Given the description of an element on the screen output the (x, y) to click on. 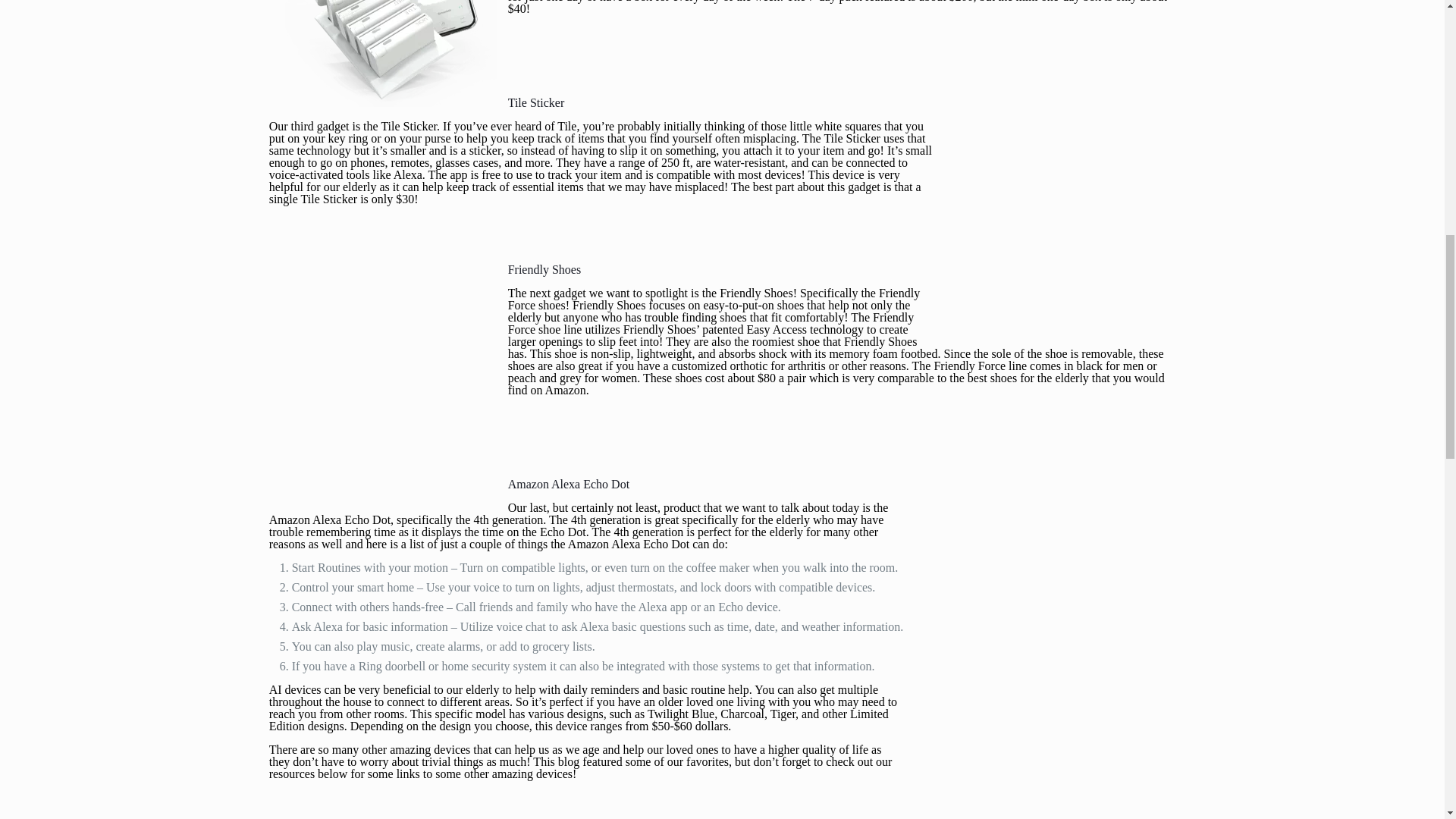
Friendly Shoes (754, 292)
Tile Sticker (536, 102)
Amazon Alexa Echo Dot (568, 483)
Friendly Shoes (544, 269)
Tile Sticker (408, 125)
